Given the description of an element on the screen output the (x, y) to click on. 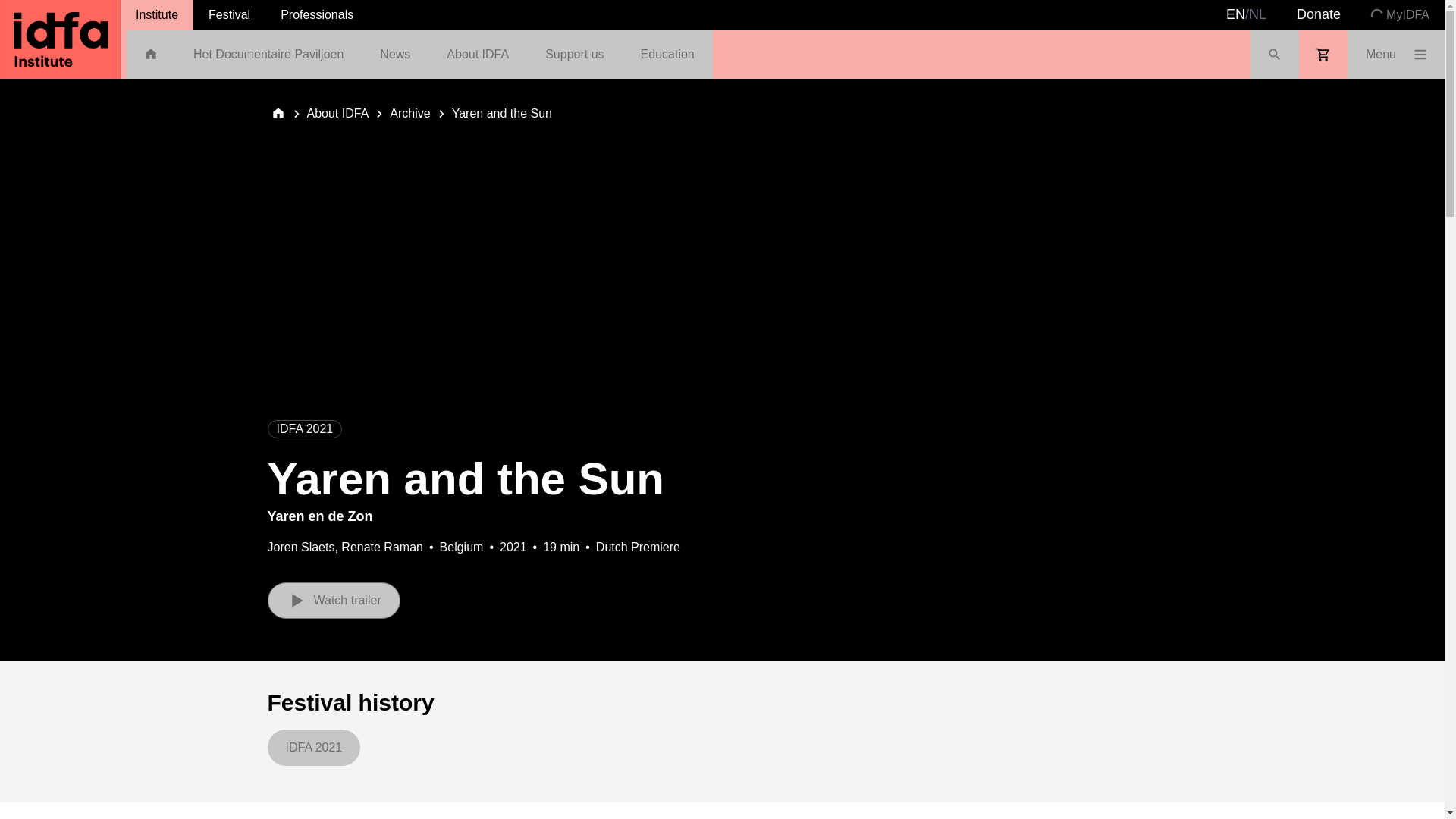
Watch trailer (332, 600)
Education (668, 54)
Institute (156, 15)
About IDFA (477, 54)
Festival (228, 15)
IDFA 2021 (312, 747)
Archive (409, 113)
Het Documentaire Paviljoen (267, 54)
Donate (1318, 15)
About IDFA (336, 113)
Archive (409, 113)
News (394, 54)
About IDFA (336, 113)
Yaren and the Sun (501, 113)
Yaren and the Sun (501, 113)
